Given the description of an element on the screen output the (x, y) to click on. 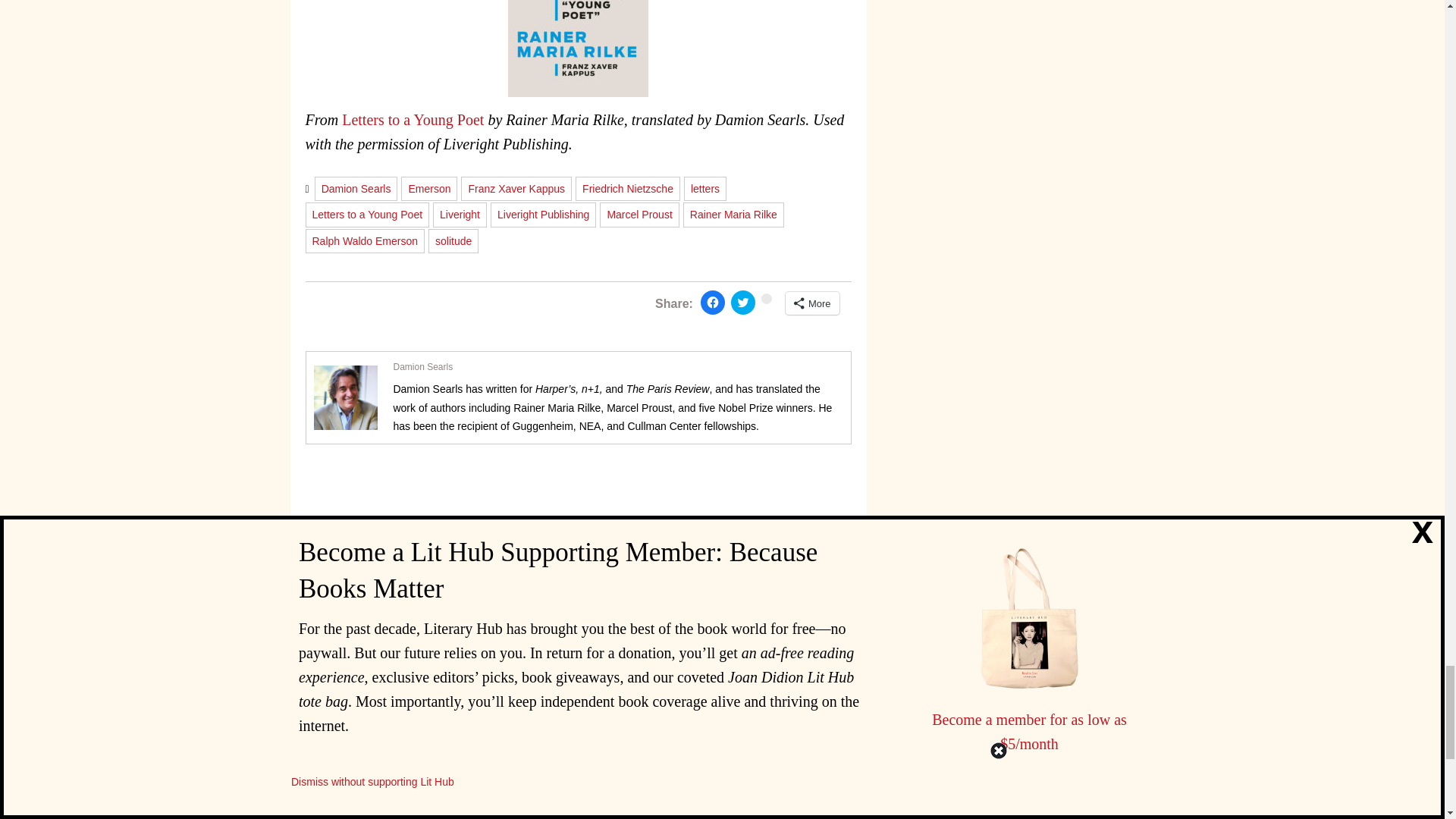
Share on Facebook (712, 302)
Click to share on Twitter (742, 302)
